Given the description of an element on the screen output the (x, y) to click on. 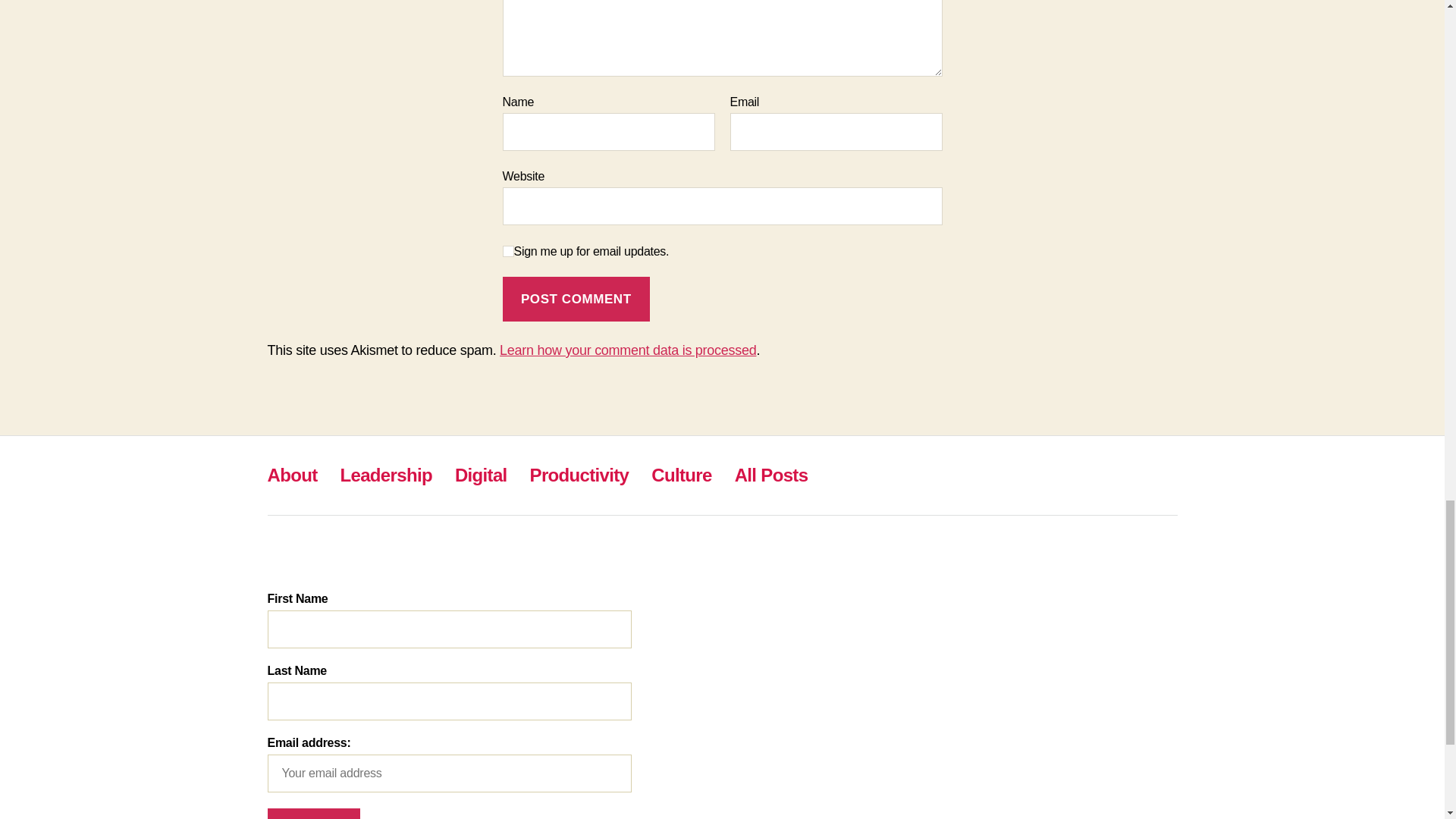
About (291, 475)
Culture (680, 475)
Digital (480, 475)
Leadership (384, 475)
Learn how your comment data is processed (627, 350)
1 (507, 251)
Post Comment (575, 298)
Sign up (312, 813)
Post Comment (575, 298)
Productivity (578, 475)
All Posts (771, 475)
Sign up (312, 813)
